Given the description of an element on the screen output the (x, y) to click on. 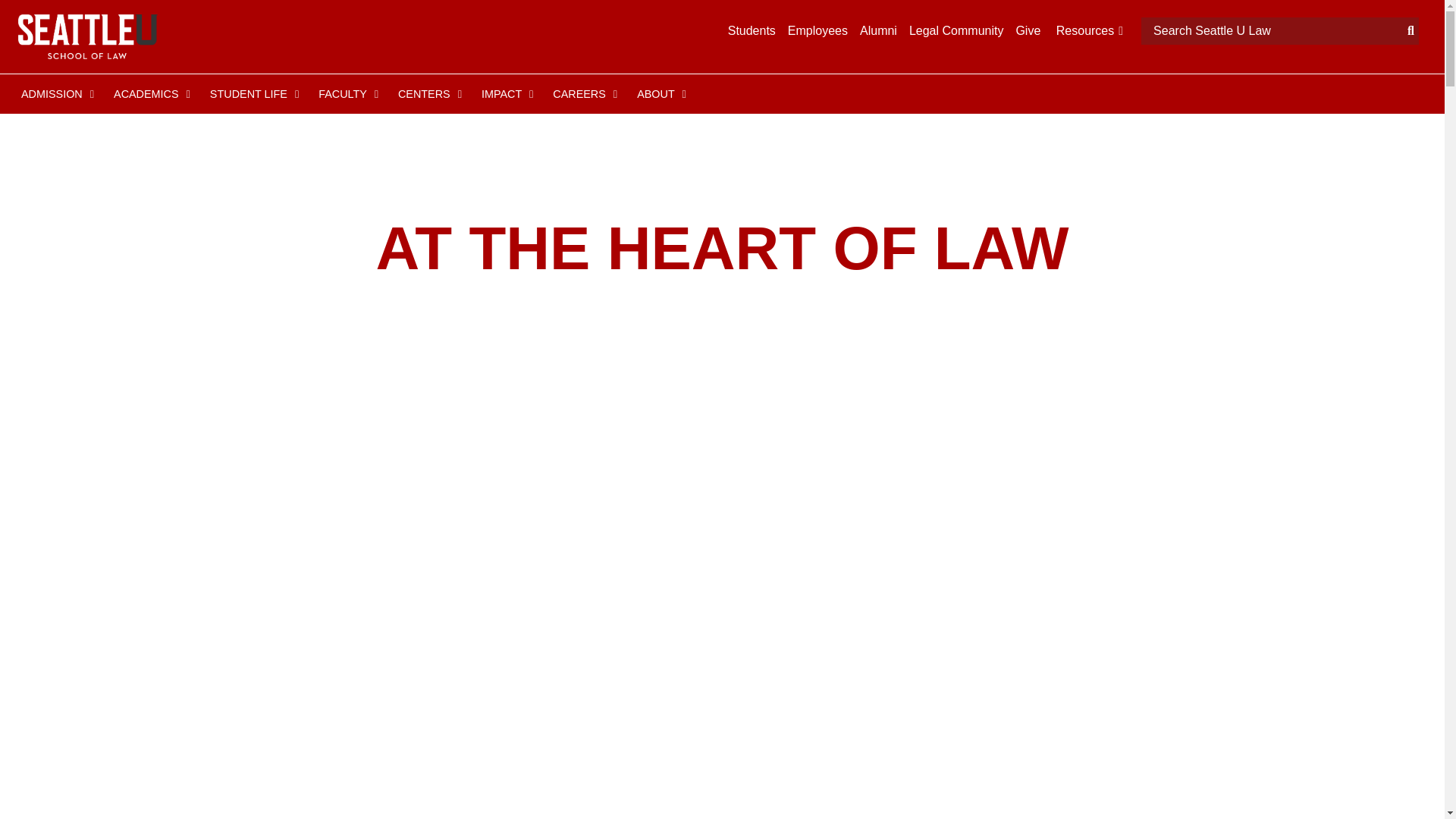
School of Law Home (87, 36)
Resources (1087, 30)
Alumni (878, 30)
Students (752, 30)
Employees (817, 30)
Legal Community (956, 30)
Give (1027, 30)
Search (1272, 30)
ADMISSION (55, 93)
